Given the description of an element on the screen output the (x, y) to click on. 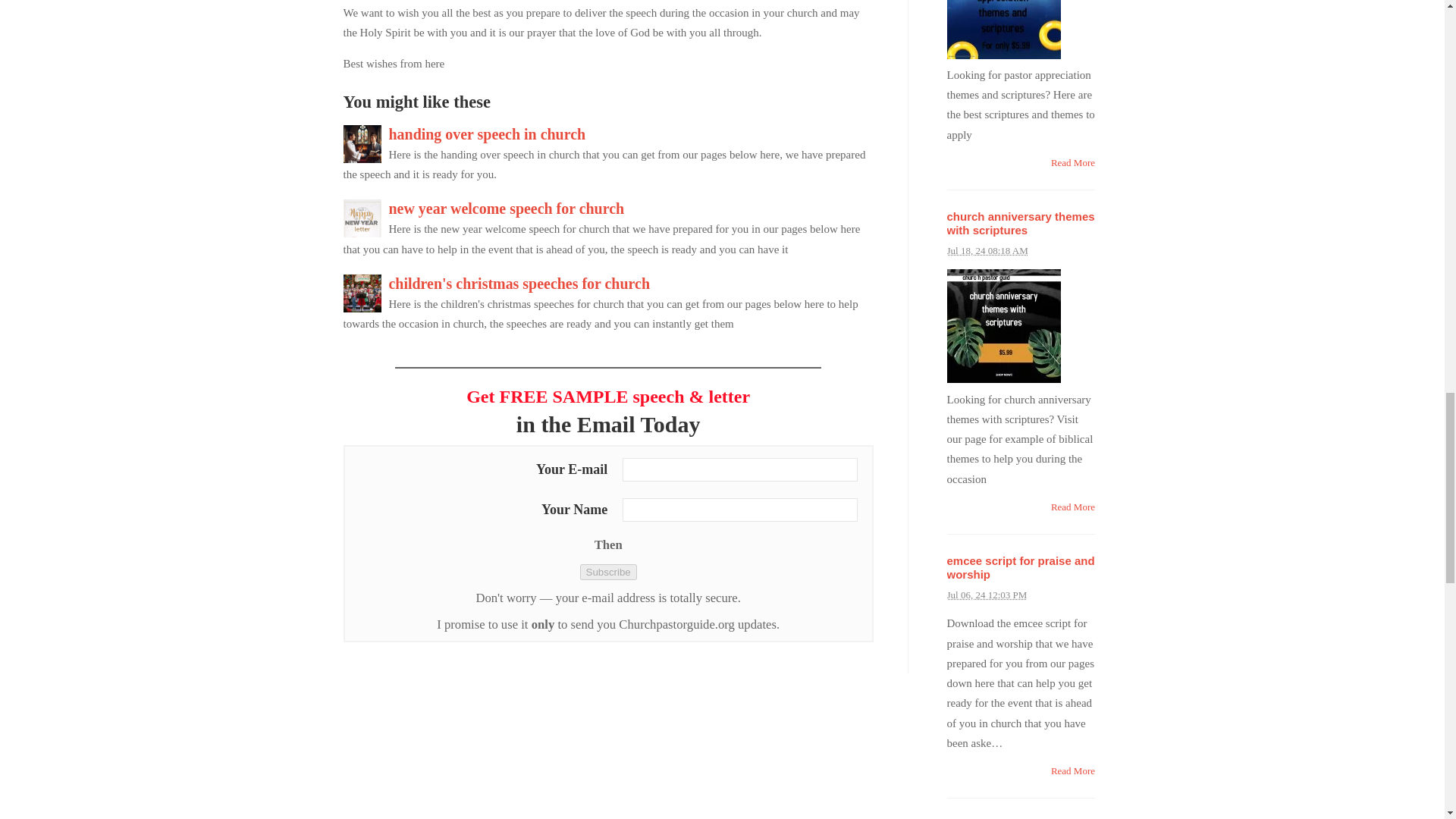
new year welcome speech for church (506, 208)
handing over speech in church (486, 134)
children's christmas speeches for church (518, 283)
Subscribe (608, 571)
2024-07-06T12:03:47-0400 (986, 594)
2024-07-18T08:18:00-0400 (986, 250)
